Given the description of an element on the screen output the (x, y) to click on. 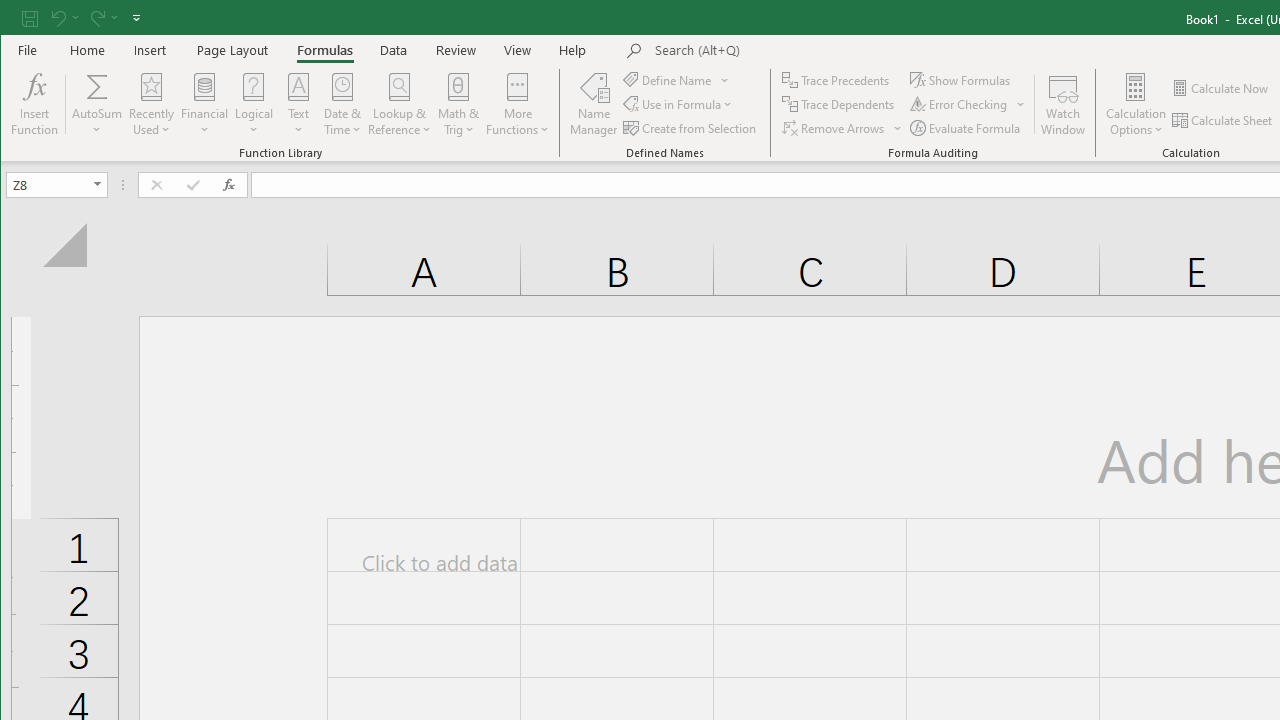
Logical (254, 104)
Create from Selection... (690, 127)
Name Manager (593, 104)
Error Checking... (968, 103)
Trace Precedents (837, 80)
Error Checking... (960, 103)
Financial (204, 104)
AutoSum (97, 104)
